Given the description of an element on the screen output the (x, y) to click on. 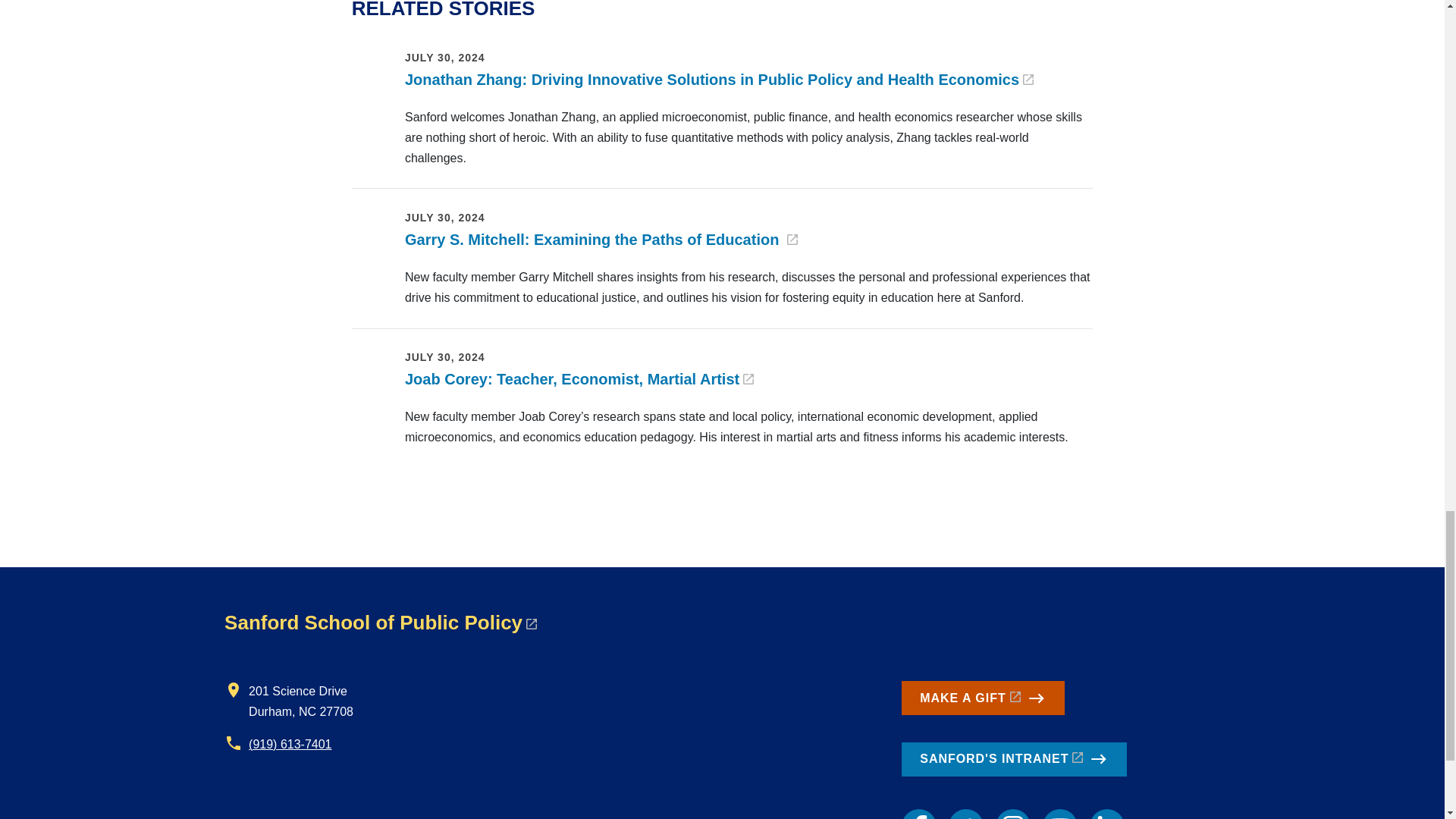
SANFORD'S INTRANET (1013, 759)
LinkedIn link (1106, 814)
MAKE A GIFT (982, 697)
Garry S. Mitchell: Examining the Paths of Education (600, 239)
Joab Corey: Teacher, Economist, Martial Artist (579, 379)
Sanford School of Public Policy (380, 621)
YouTube link (1059, 814)
Instagram link (1012, 814)
Facebook link (918, 814)
Twitter link (966, 814)
